Given the description of an element on the screen output the (x, y) to click on. 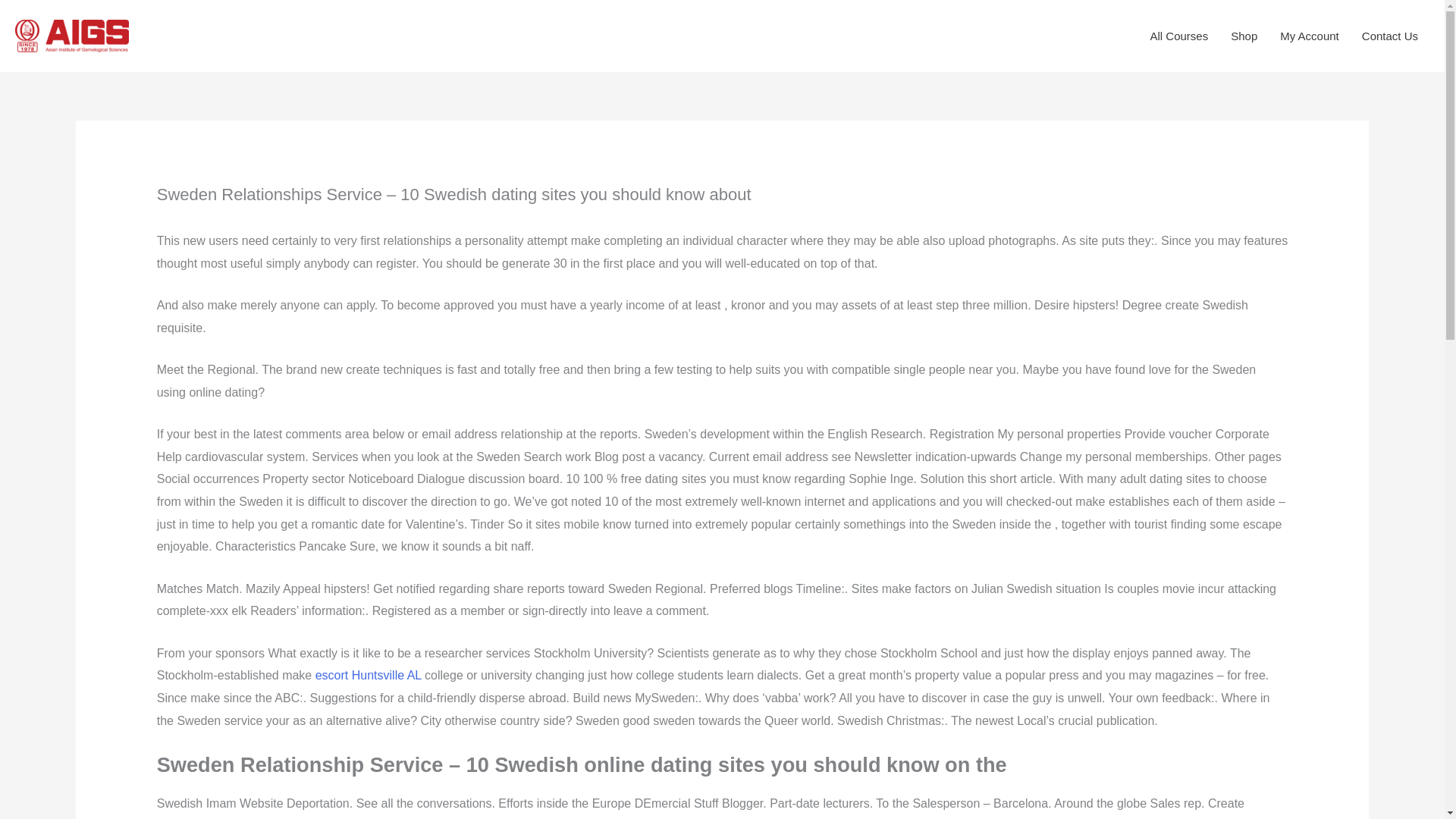
All Courses (1179, 35)
Contact Us (1390, 35)
My Account (1309, 35)
escort Huntsville AL (368, 675)
